Given the description of an element on the screen output the (x, y) to click on. 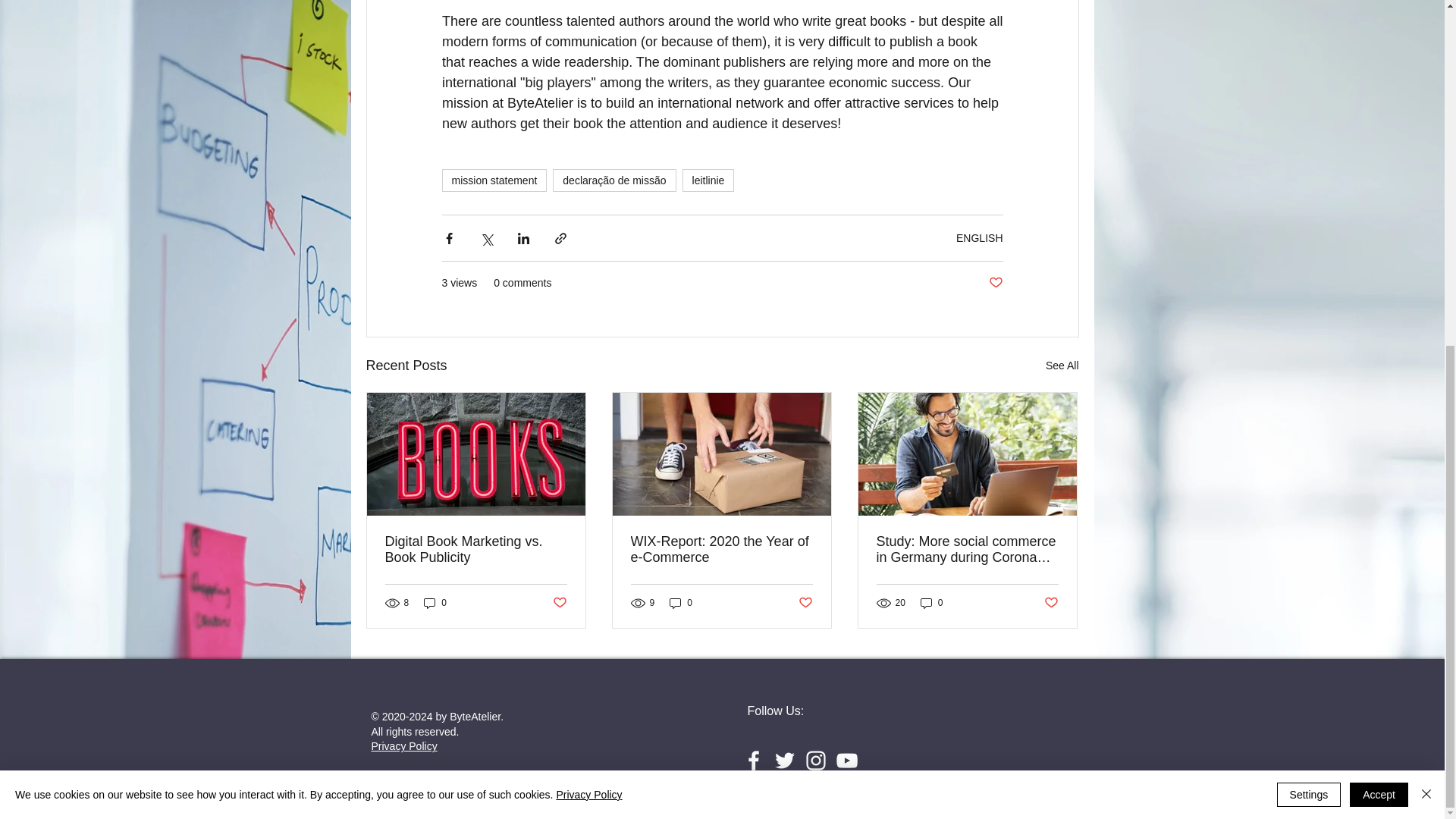
0 (931, 602)
Digital Book Marketing vs. Book Publicity (476, 549)
Study: More social commerce in Germany during Corona crisis (967, 549)
0 (681, 602)
ENGLISH (979, 236)
Post not marked as liked (995, 283)
Post not marked as liked (804, 602)
See All (1061, 365)
Post not marked as liked (558, 602)
WIX-Report: 2020 the Year of e-Commerce (721, 549)
